Given the description of an element on the screen output the (x, y) to click on. 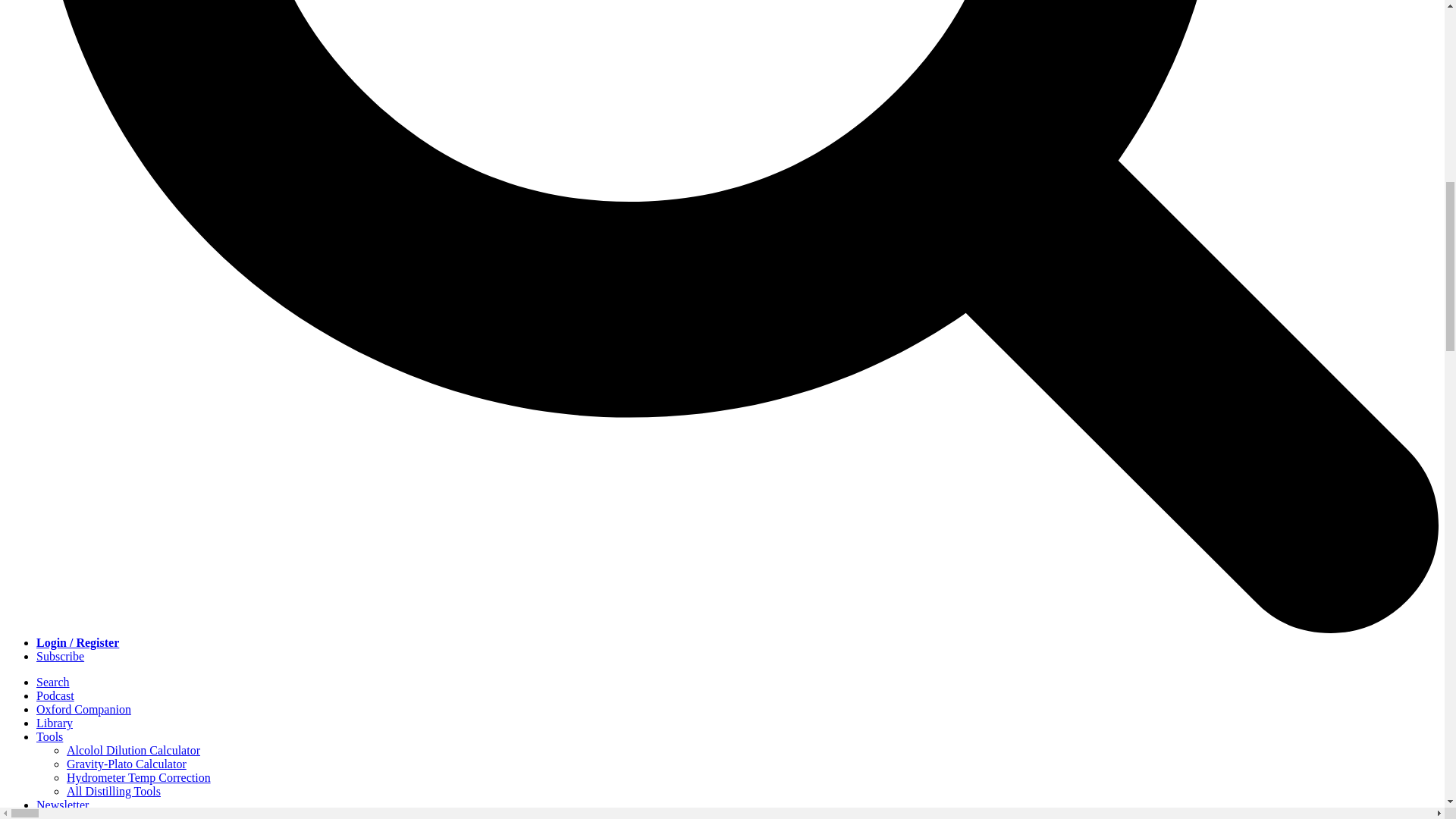
Search (52, 681)
Hydrometer Temp Correction (138, 777)
Library (54, 722)
Gravity-Plato Calculator (126, 763)
Alcolol Dilution Calculator (133, 749)
Newsletter (62, 804)
Subscribe (60, 656)
Tools (49, 736)
Podcast (55, 695)
All Distilling Tools (113, 790)
